Given the description of an element on the screen output the (x, y) to click on. 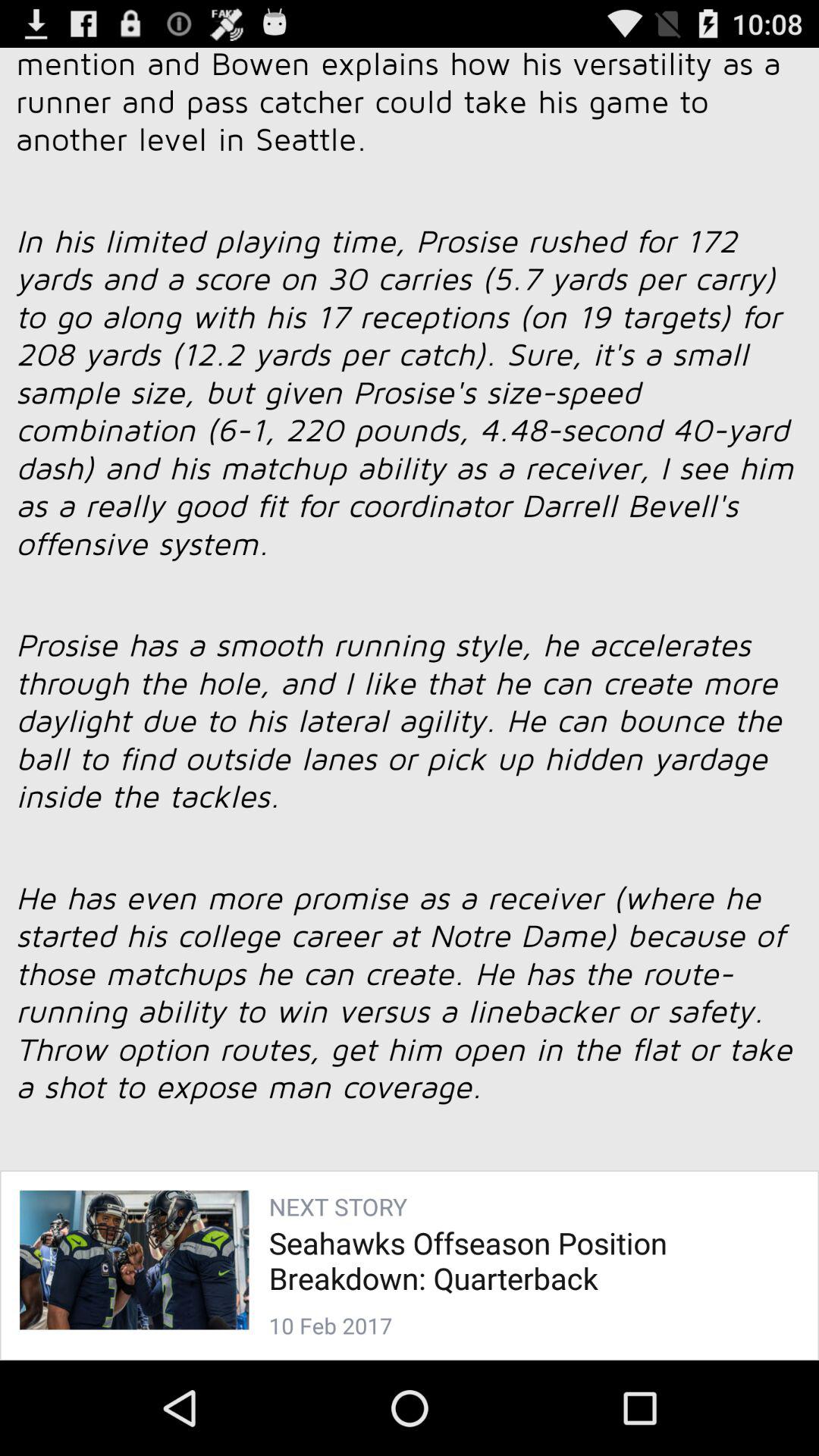
go to next story (409, 683)
